Given the description of an element on the screen output the (x, y) to click on. 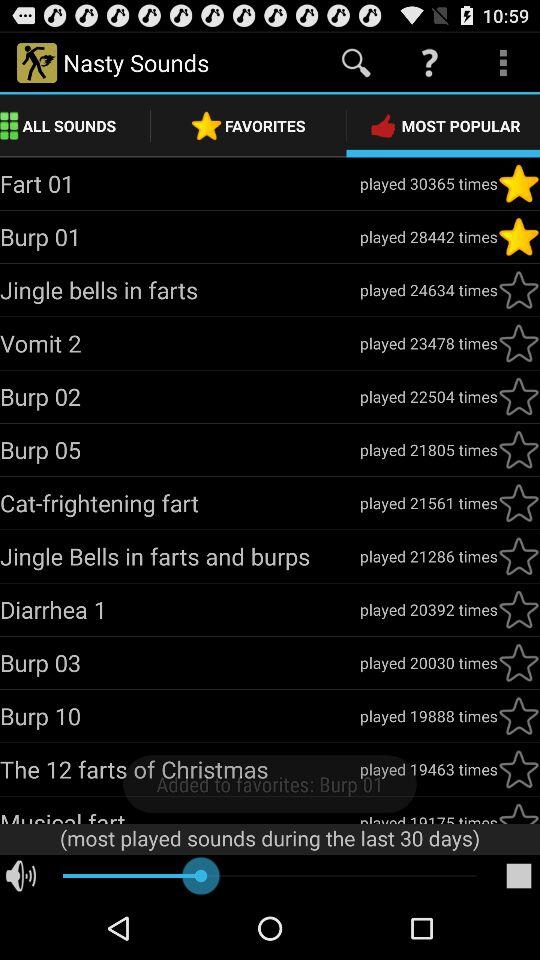
star a sound (519, 183)
